Given the description of an element on the screen output the (x, y) to click on. 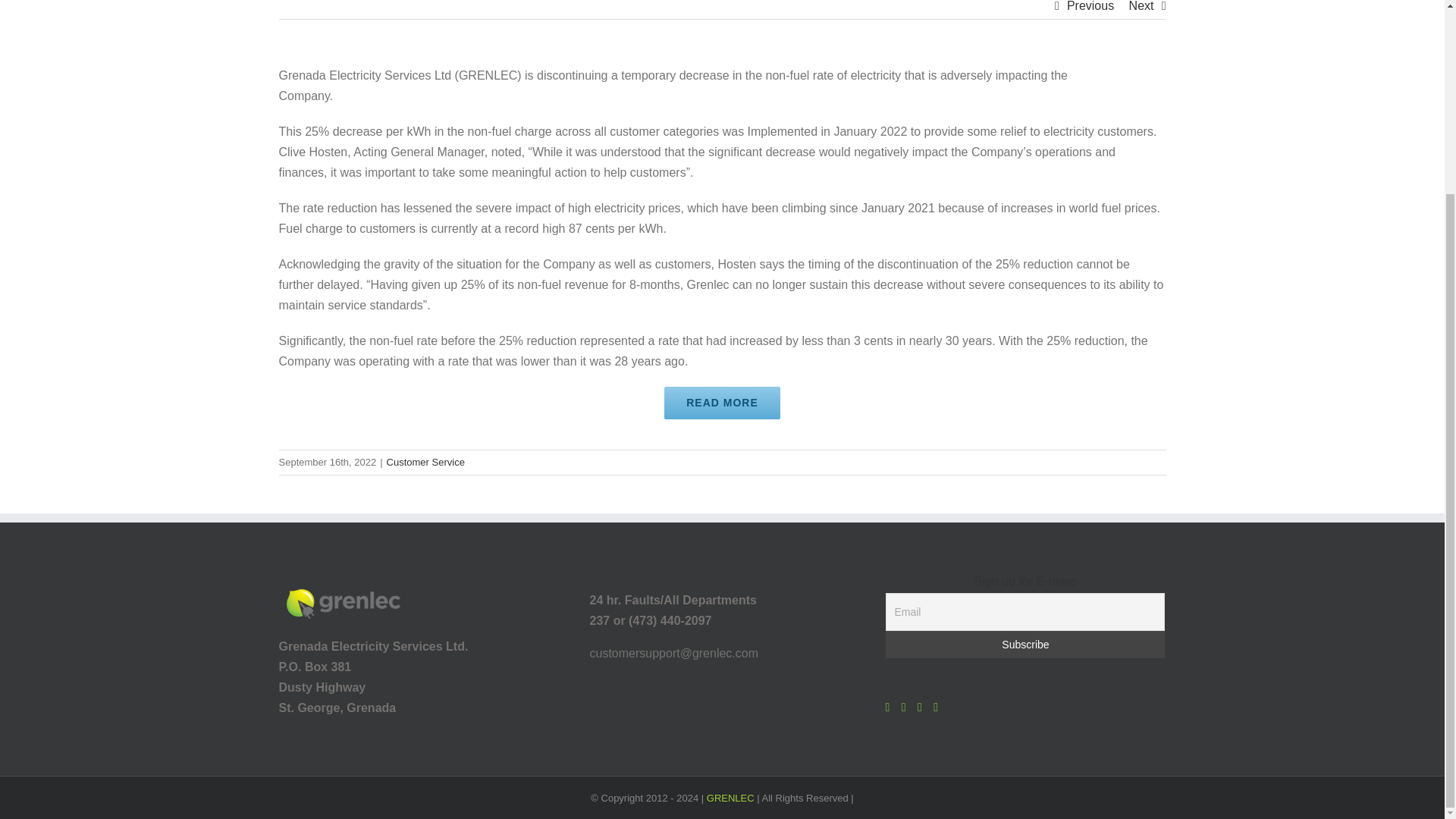
Subscribe (1024, 644)
